Given the description of an element on the screen output the (x, y) to click on. 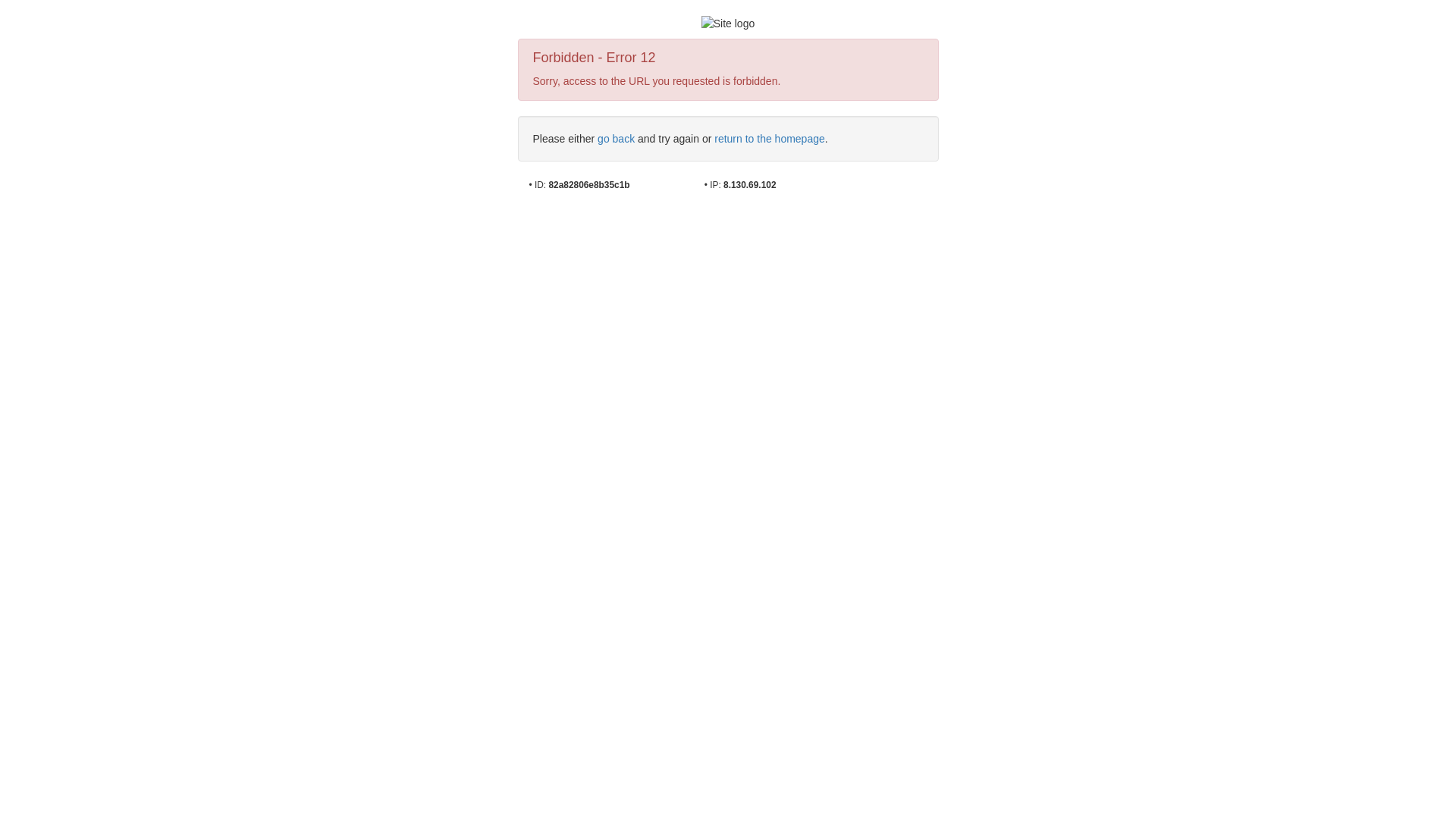
return to the homepage Element type: text (769, 138)
go back Element type: text (615, 138)
